Given the description of an element on the screen output the (x, y) to click on. 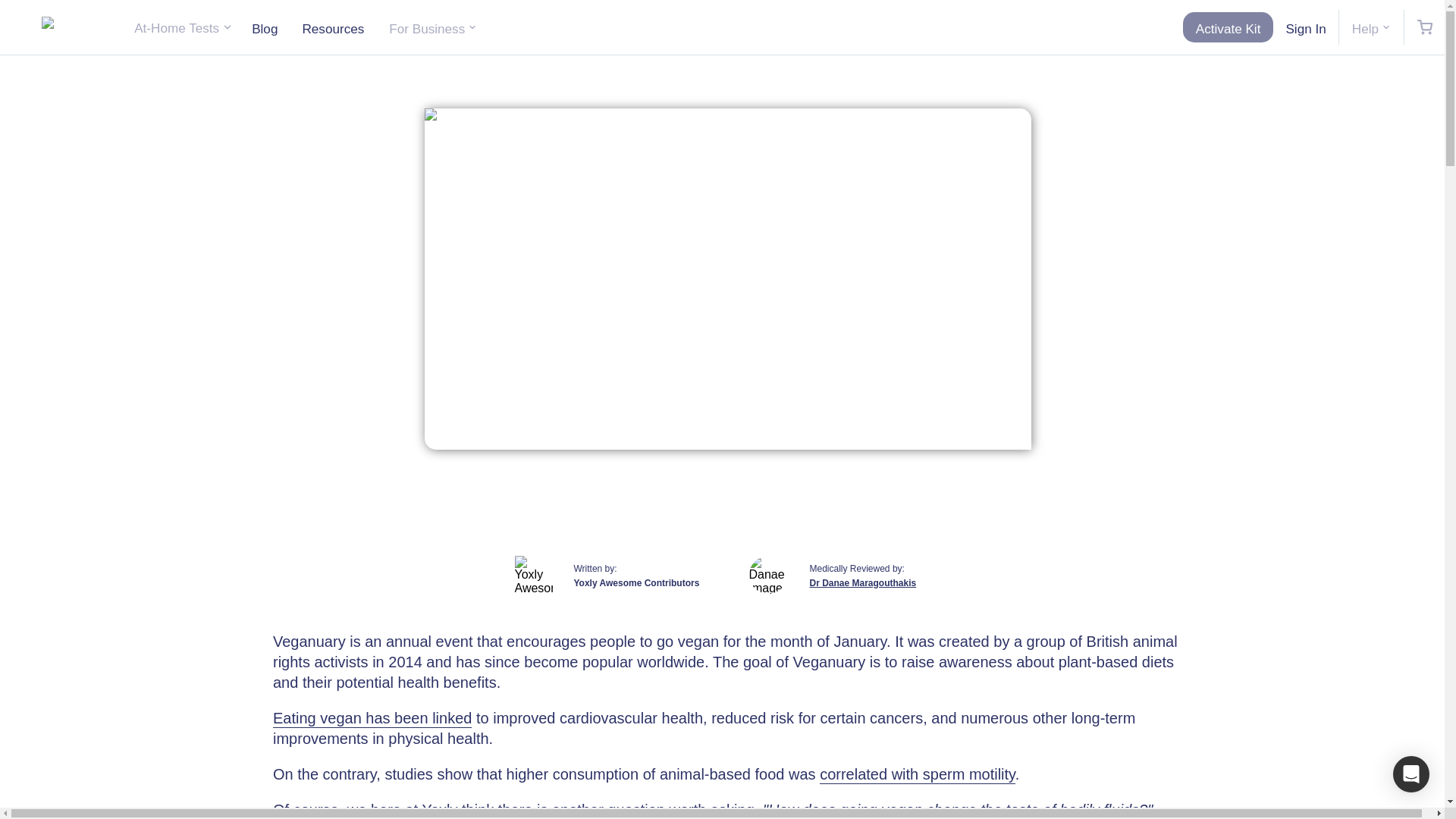
help-menu (1371, 27)
For Business (432, 27)
at-home-tests-menu (182, 27)
Activate Kit (1228, 27)
help-menu (432, 27)
Eating vegan has been linked (372, 719)
At-Home Tests (182, 27)
Dr Danae Maragouthakis (874, 583)
correlated with sperm motility (916, 774)
Help (1371, 27)
